Given the description of an element on the screen output the (x, y) to click on. 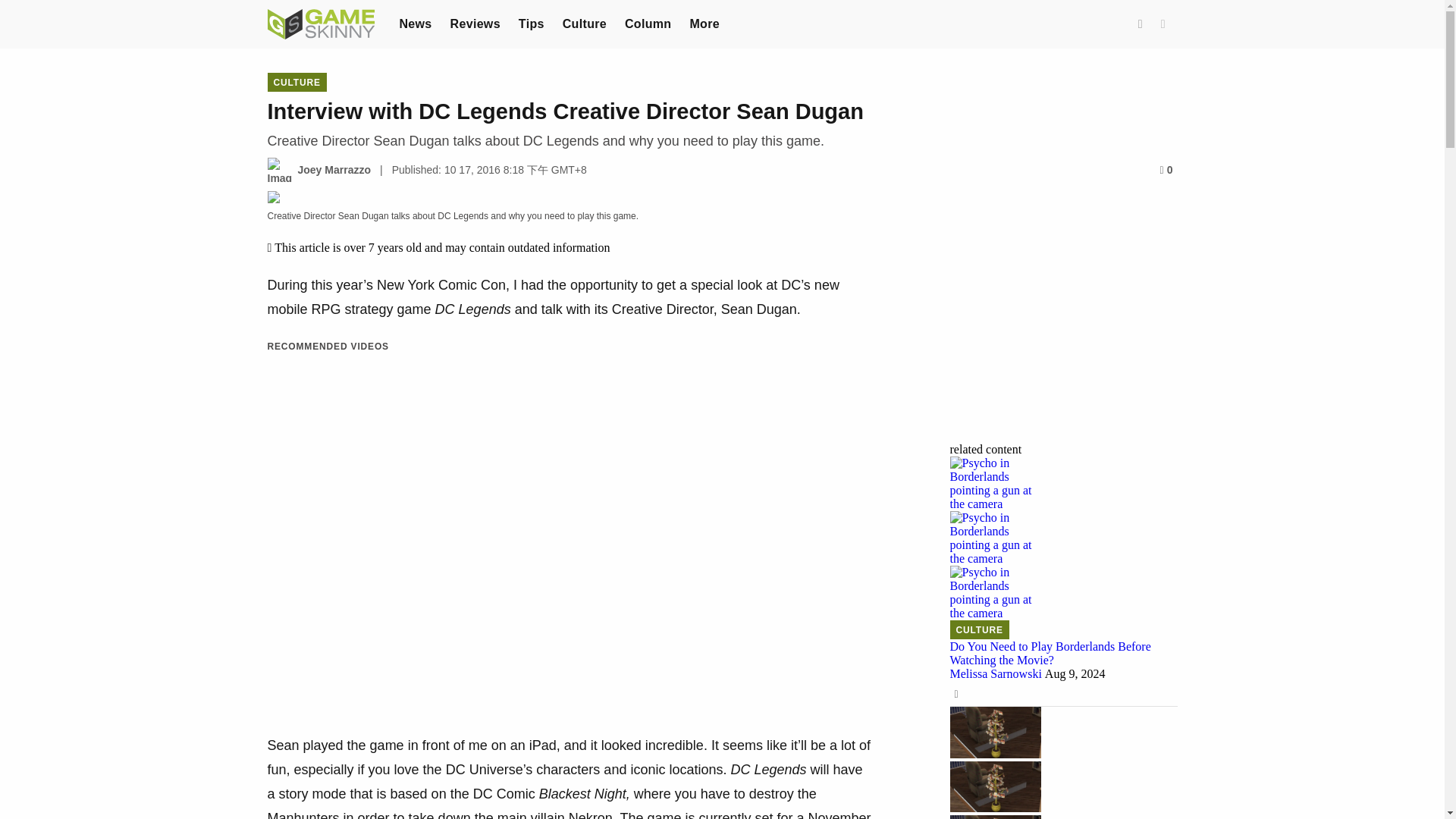
News (414, 23)
Column (647, 23)
Culture (584, 23)
Tips (531, 23)
Reviews (474, 23)
